Given the description of an element on the screen output the (x, y) to click on. 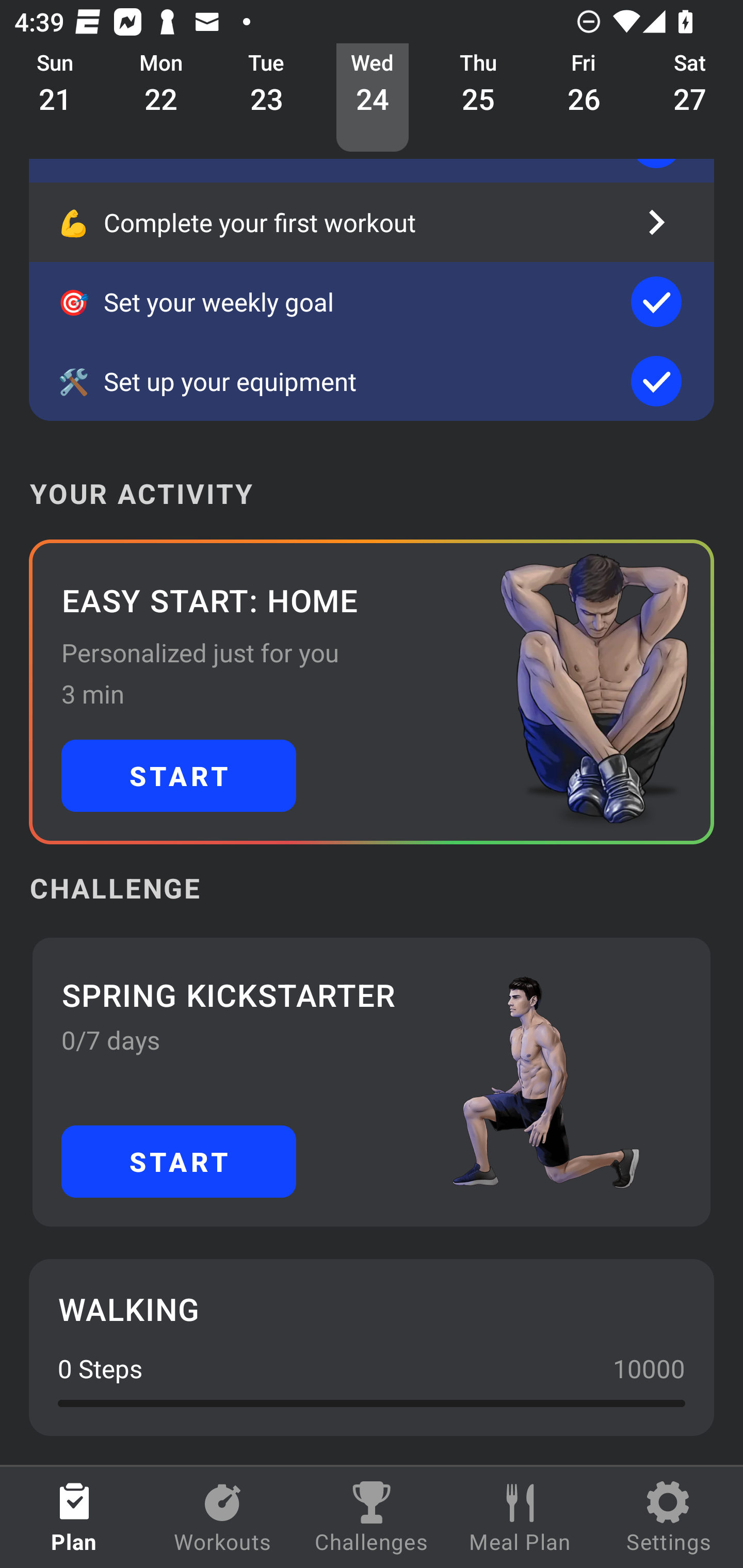
Sun 21 (55, 97)
Mon 22 (160, 97)
Tue 23 (266, 97)
Wed 24 (372, 97)
Thu 25 (478, 97)
Fri 26 (584, 97)
Sat 27 (690, 97)
💪 Complete your first workout (371, 221)
START (178, 776)
SPRING KICKSTARTER 0/7 days START (371, 1082)
START (178, 1161)
WALKING 0 Steps 10000 0.0 (371, 1347)
 Workouts  (222, 1517)
 Challenges  (371, 1517)
 Meal Plan  (519, 1517)
 Settings  (668, 1517)
